Given the description of an element on the screen output the (x, y) to click on. 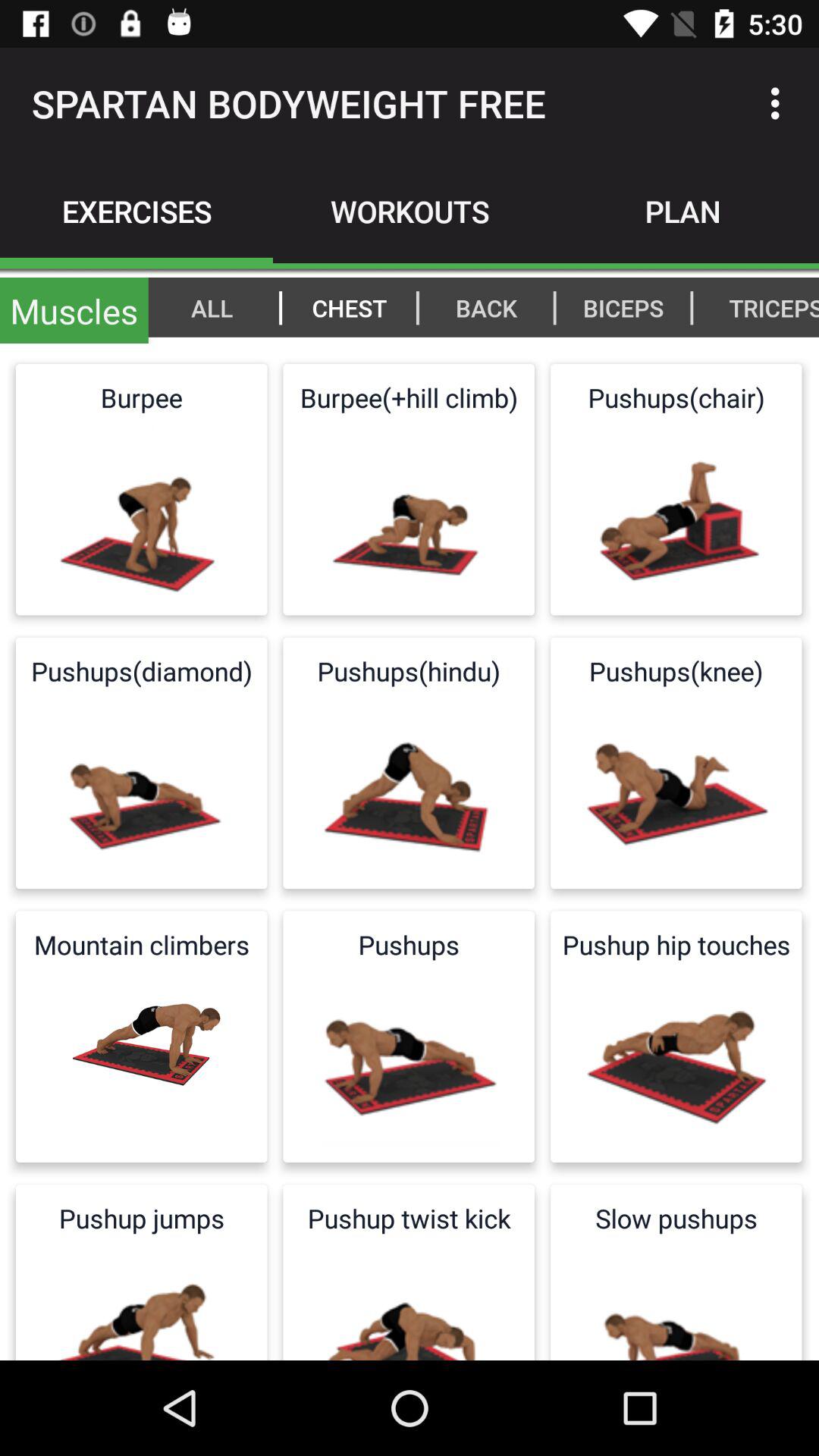
choose the exercises (136, 211)
